Given the description of an element on the screen output the (x, y) to click on. 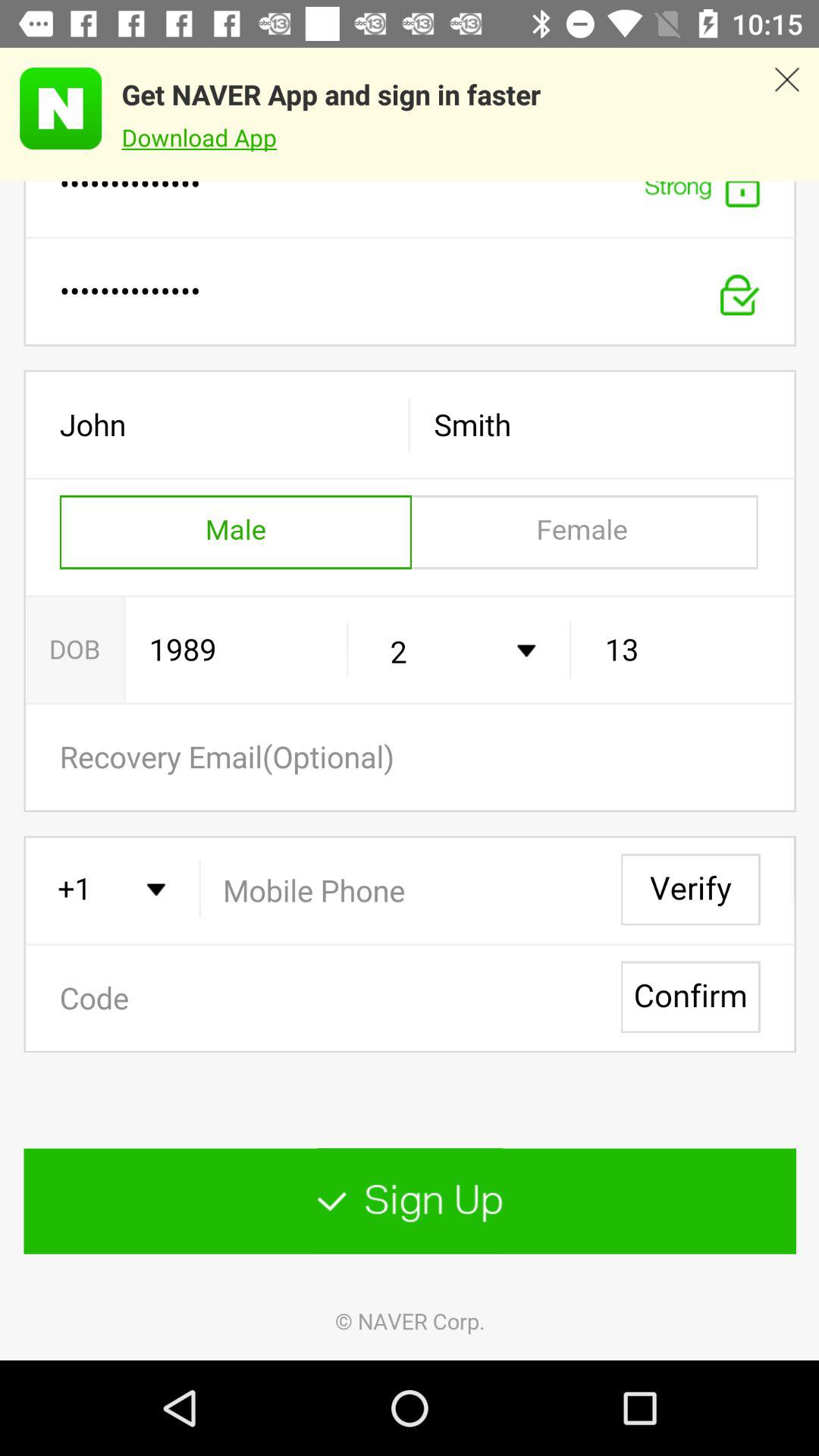
title image (50, 108)
